Given the description of an element on the screen output the (x, y) to click on. 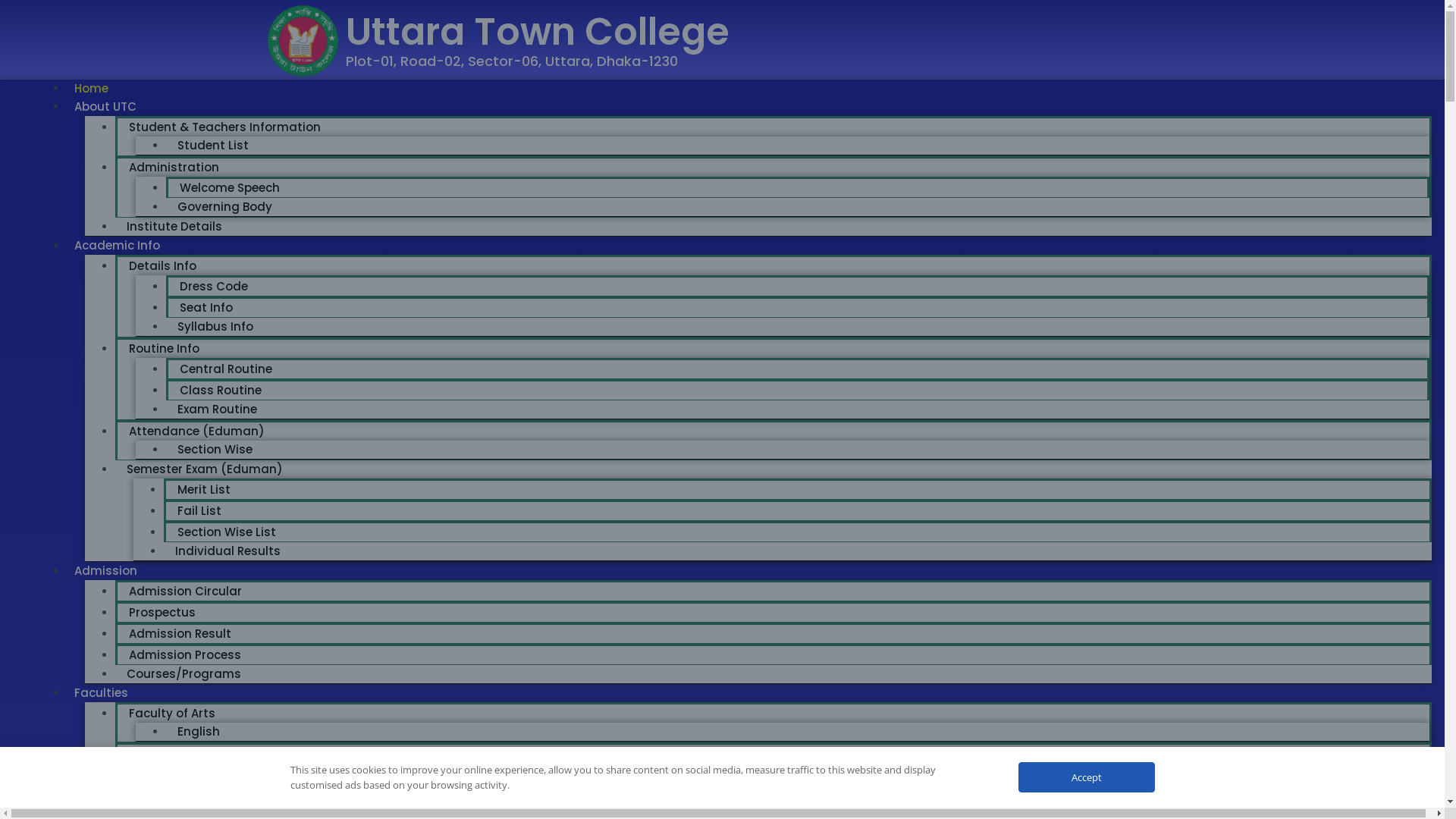
Home Element type: text (91, 88)
Welcome Speech Element type: text (229, 187)
Administration Element type: text (173, 166)
Details Info Element type: text (162, 265)
Section Wise Element type: text (214, 448)
Prospectus Element type: text (162, 611)
Exam Routine Element type: text (217, 408)
Class Routine Element type: text (220, 389)
Faculty of Social Science Element type: text (201, 752)
Faculty of Arts Element type: text (171, 712)
Admission Process Element type: text (184, 654)
Fail List Element type: text (199, 510)
Admission Element type: text (105, 570)
Economics Element type: text (211, 773)
Courses/Programs Element type: text (183, 673)
About UTC Element type: text (105, 106)
Student & Teachers Information Element type: text (224, 126)
Attendance (Eduman) Element type: text (196, 430)
Admission Circular Element type: text (185, 590)
Semester Exam (Eduman) Element type: text (204, 468)
Merit List Element type: text (203, 489)
Central Routine Element type: text (225, 368)
Uttara Town College Element type: text (537, 31)
Seat Info Element type: text (206, 307)
Syllabus Info Element type: text (215, 326)
Individual Results Element type: text (227, 550)
Faculties Element type: text (100, 692)
Section Wise List Element type: text (226, 531)
Governing Body Element type: text (224, 206)
Academic Info Element type: text (116, 245)
Routine Info Element type: text (163, 348)
Social Work Element type: text (213, 794)
English Element type: text (198, 730)
Student List Element type: text (213, 144)
Institute Details Element type: text (174, 225)
Dress Code Element type: text (213, 285)
Admission Result Element type: text (179, 633)
